Given the description of an element on the screen output the (x, y) to click on. 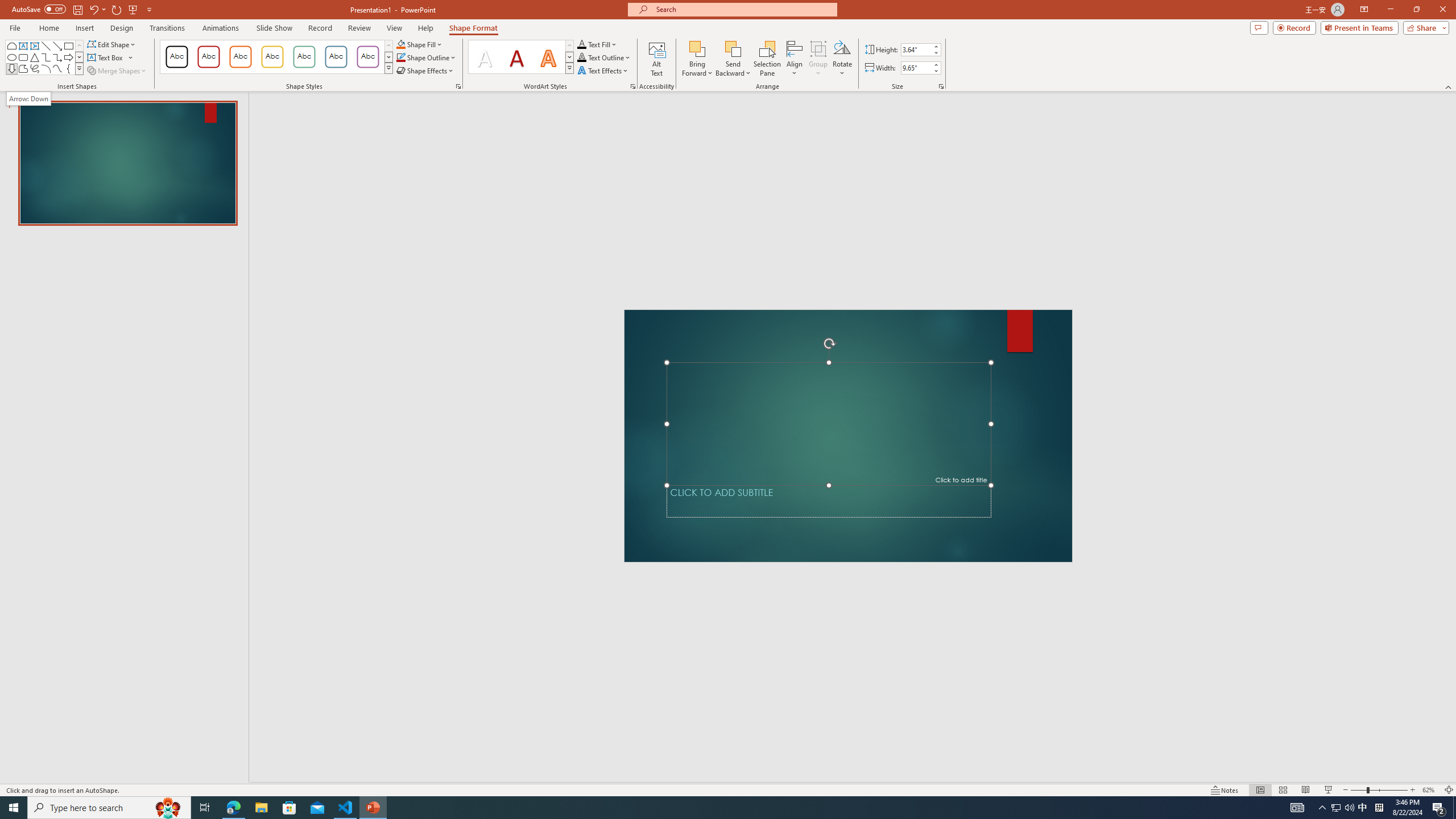
Left Brace (68, 68)
AutomationID: ShapesInsertGallery (44, 57)
AutomationID: ShapeStylesGallery (276, 56)
Title TextBox (828, 423)
Edit Shape (112, 44)
Draw Horizontal Text Box (105, 56)
Shape Effects (425, 69)
